Given the description of an element on the screen output the (x, y) to click on. 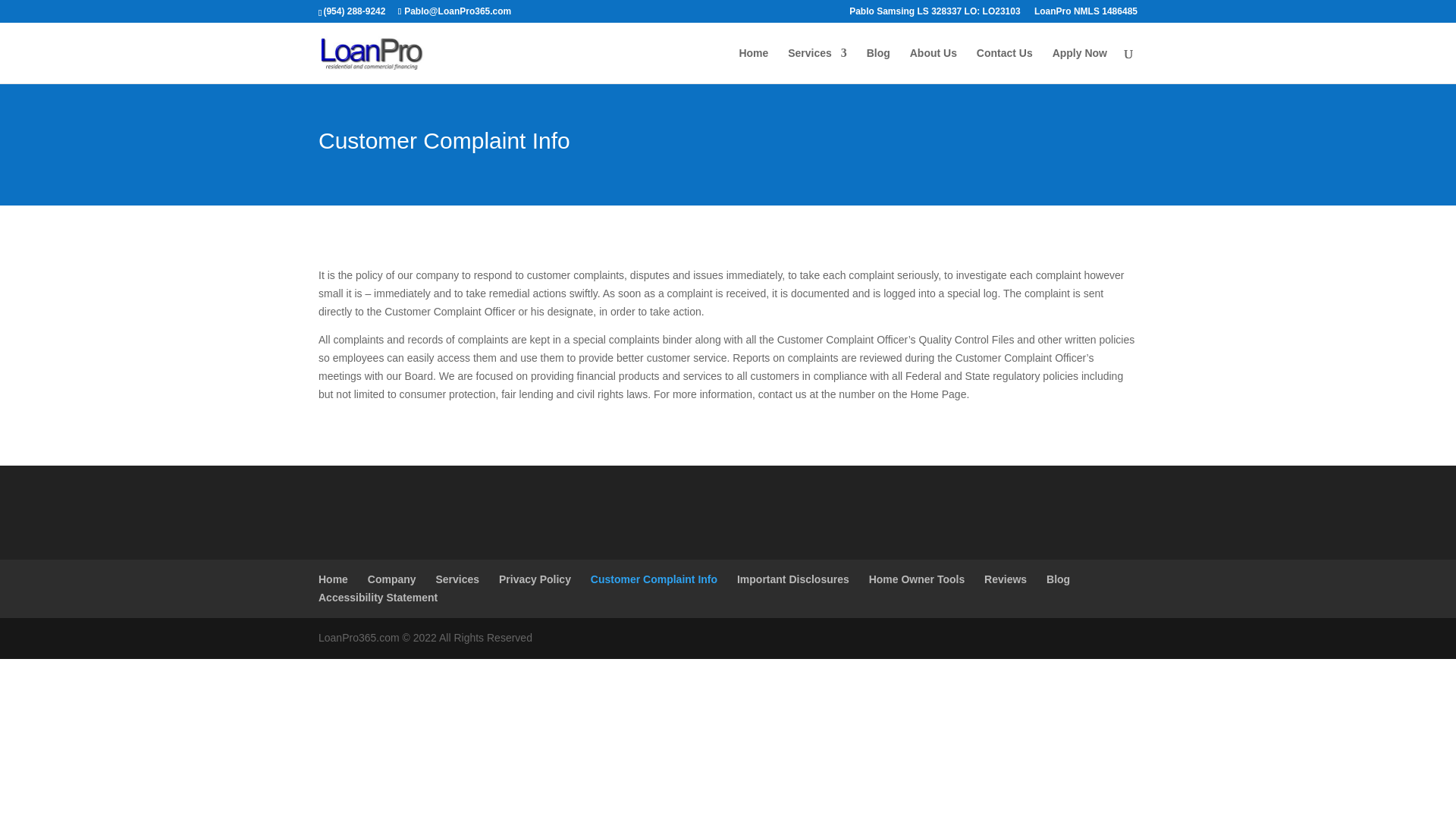
Customer Complaint Info (654, 579)
Pablo Samsing LS 328337 LO: LO23103 (934, 14)
Services (817, 65)
Contact Us (1004, 65)
LoanPro NMLS 1486485 (1085, 14)
Home Owner Tools (917, 579)
Reviews (1005, 579)
Apply Now (1079, 65)
Privacy Policy (534, 579)
Home (332, 579)
